Given the description of an element on the screen output the (x, y) to click on. 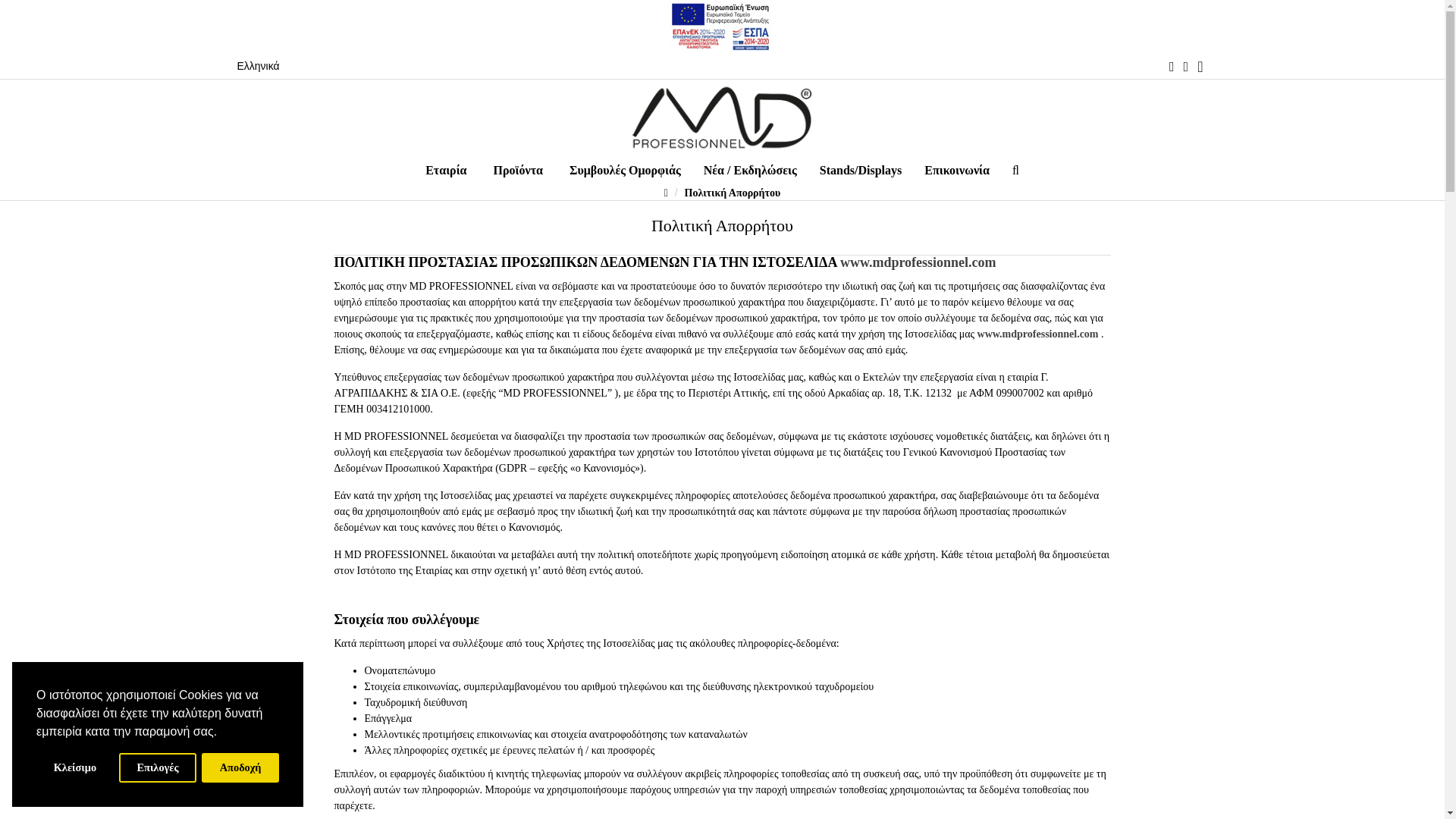
MD Professionnel (721, 117)
